Given the description of an element on the screen output the (x, y) to click on. 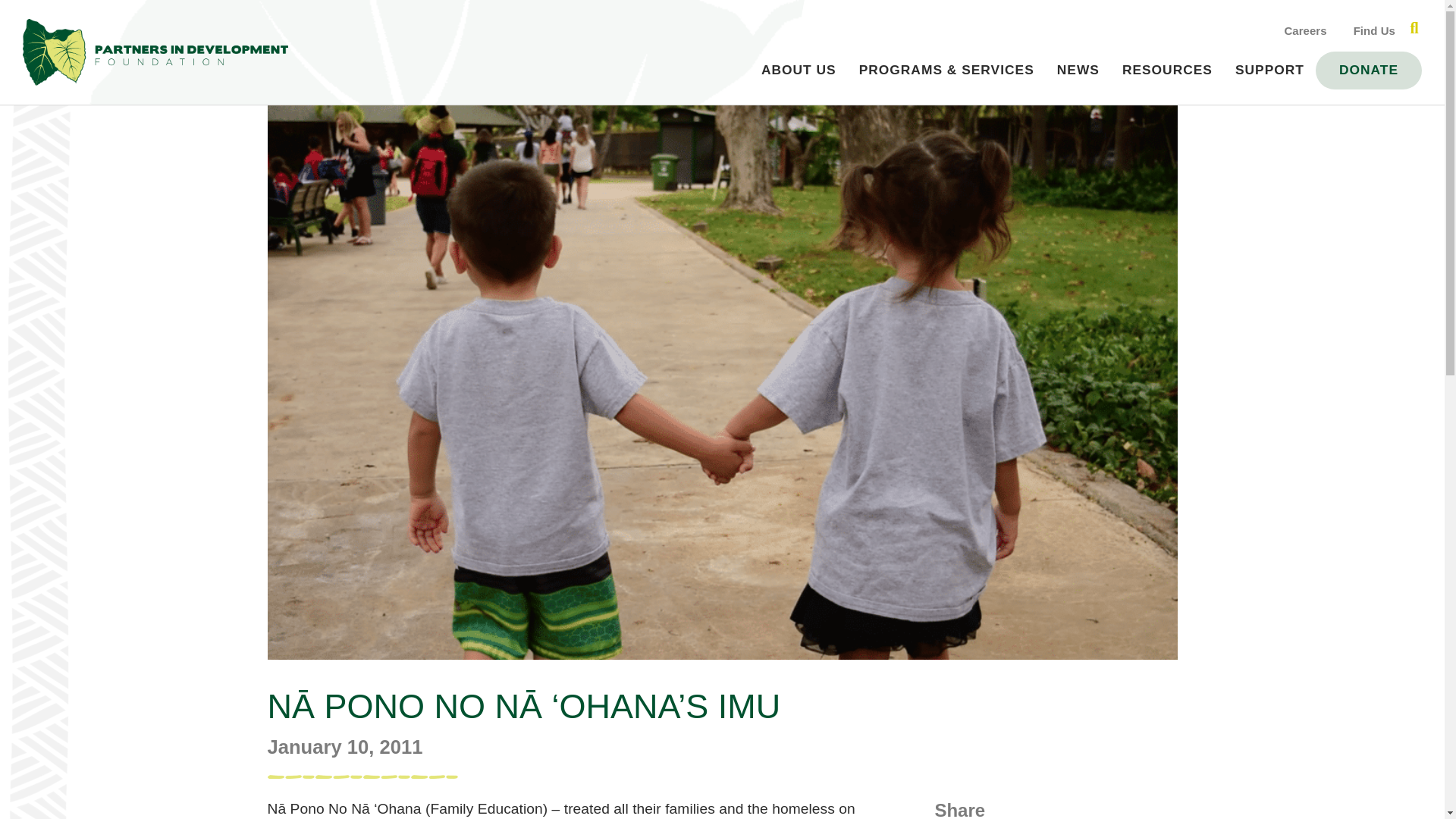
ABOUT US (798, 70)
SUPPORT (1270, 70)
Find Us (1372, 31)
Careers (1303, 31)
PID Horizontal (155, 51)
NEWS (1077, 70)
RESOURCES (1167, 70)
DONATE (1368, 70)
